Given the description of an element on the screen output the (x, y) to click on. 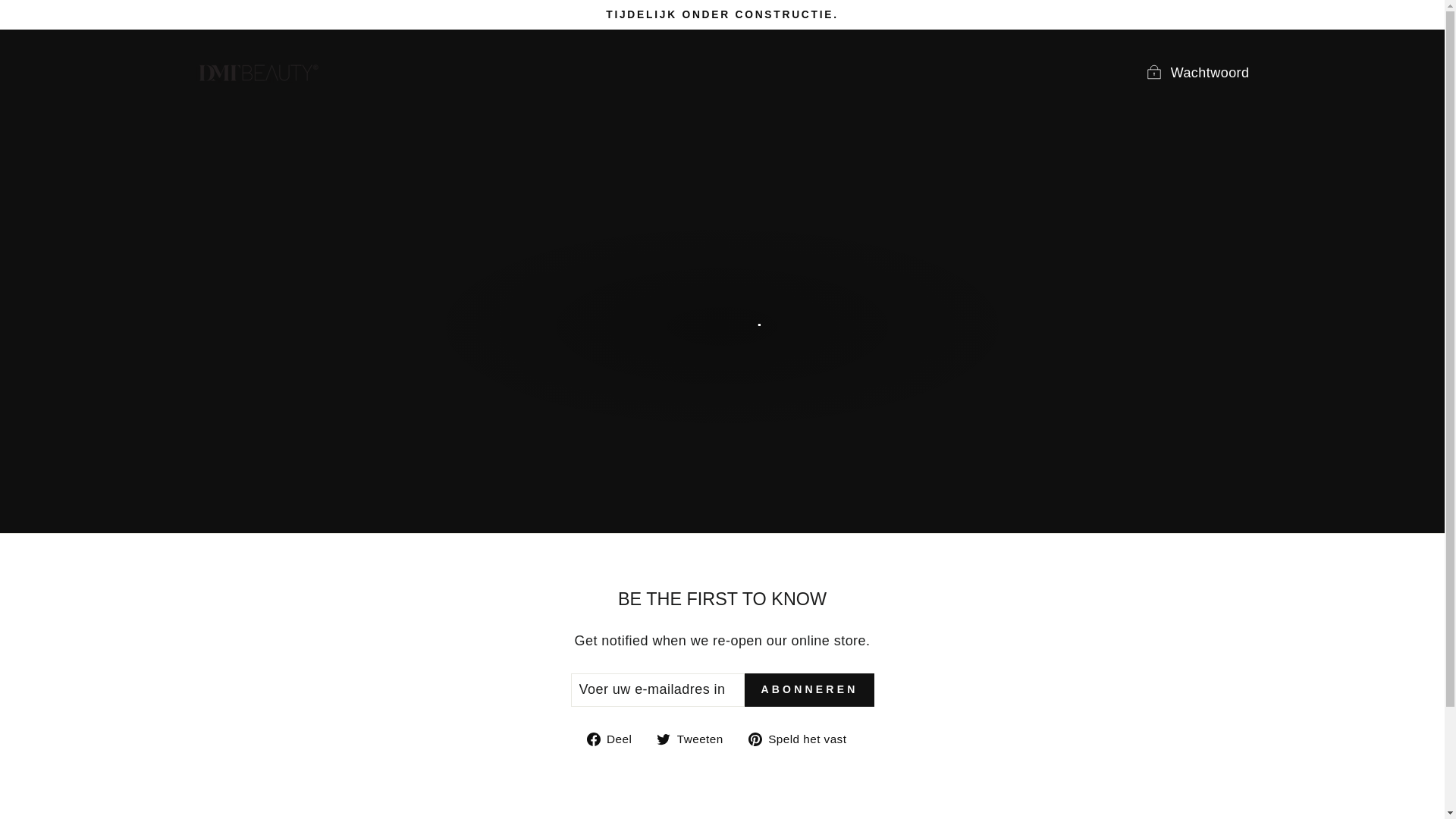
Pin op Pinterest (803, 738)
Delen op Facebook (803, 738)
Tweeten op Twitter (614, 738)
ABONNEREN (694, 738)
